Given the description of an element on the screen output the (x, y) to click on. 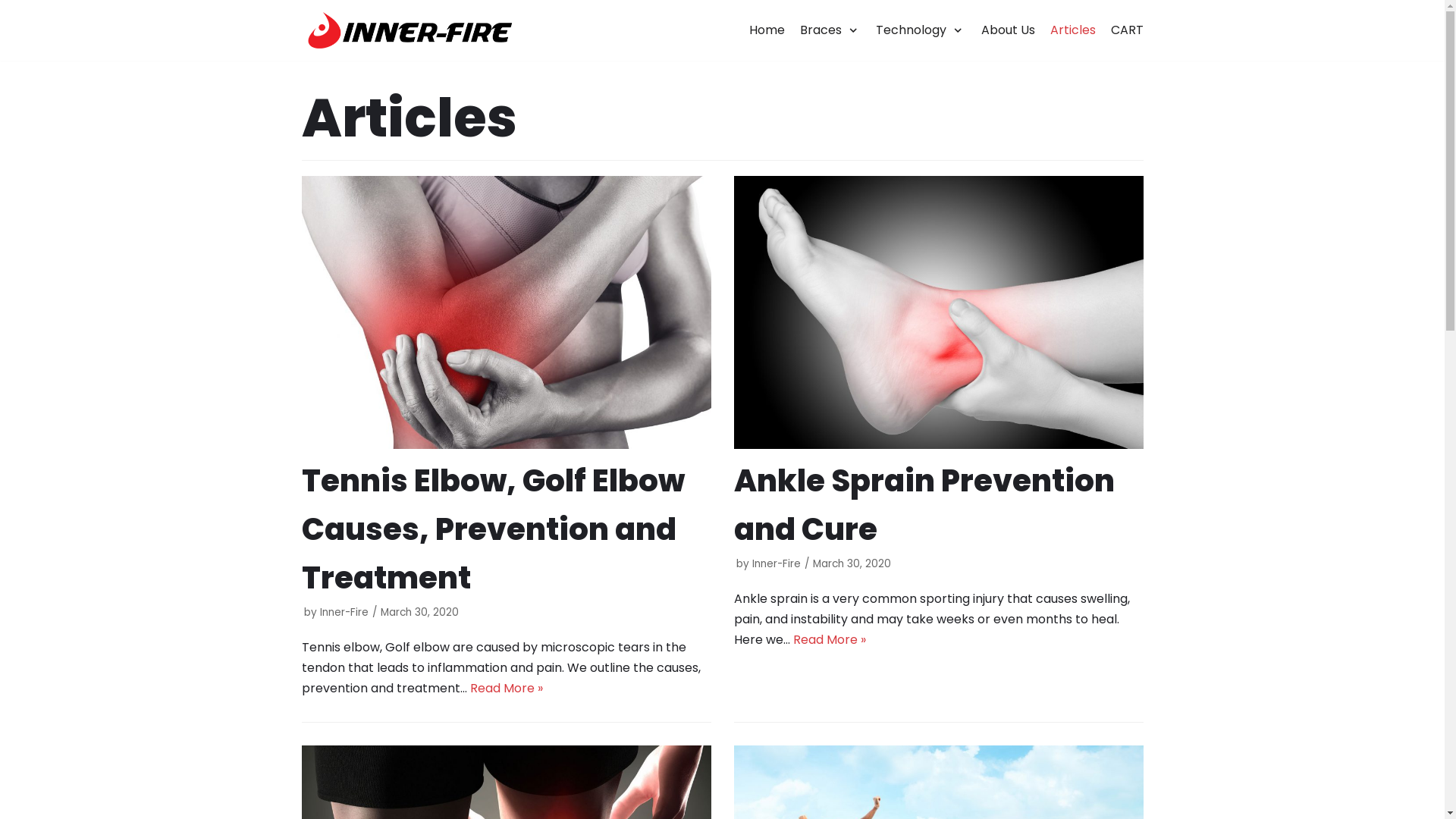
Inner-Fire Element type: text (776, 563)
Technology Element type: text (920, 30)
Ankle Sprain Prevention and Cure Element type: hover (938, 311)
Inner-Fire Element type: text (344, 612)
About Us Element type: text (1008, 30)
Home Element type: text (766, 30)
Braces Element type: text (830, 30)
Buy Sporting Braces Online | Inner-fire Australia Element type: hover (406, 30)
CART Element type: text (1126, 30)
Tennis Elbow, Golf Elbow Causes, Prevention and Treatment Element type: hover (506, 311)
Articles Element type: text (1072, 30)
Ankle Sprain Prevention and Cure Element type: text (924, 504)
Skip to content Element type: text (15, 7)
Tennis Elbow, Golf Elbow Causes, Prevention and Treatment Element type: text (492, 529)
